Given the description of an element on the screen output the (x, y) to click on. 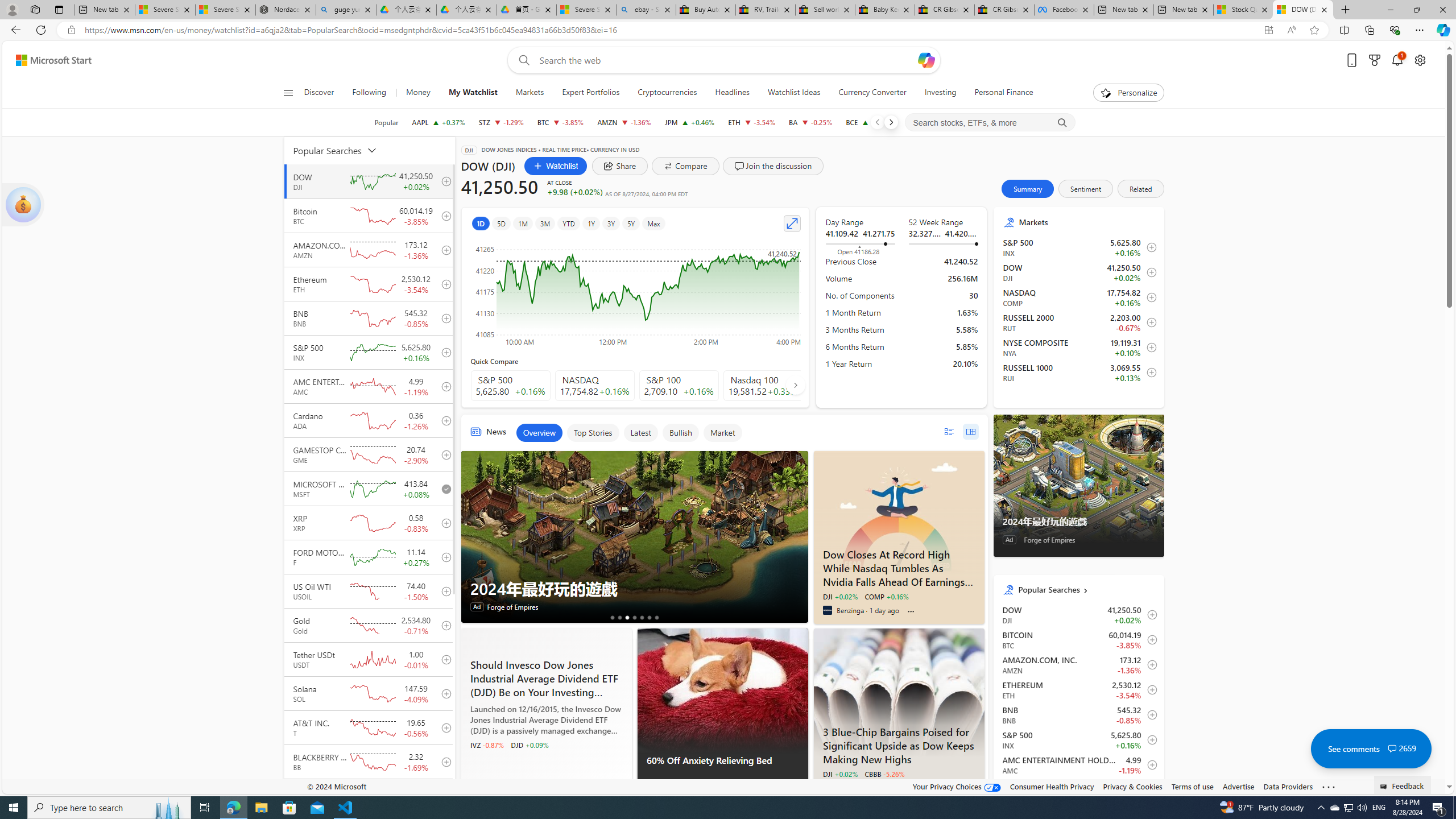
guge yunpan - Search (346, 9)
Popular Searches (1085, 589)
ETH Ethereum decrease 2,530.12 -89.57 -3.54% itemundefined (1078, 689)
Skip to footer (46, 59)
Personal Finance (1003, 92)
Money (418, 92)
Overview (538, 432)
